Given the description of an element on the screen output the (x, y) to click on. 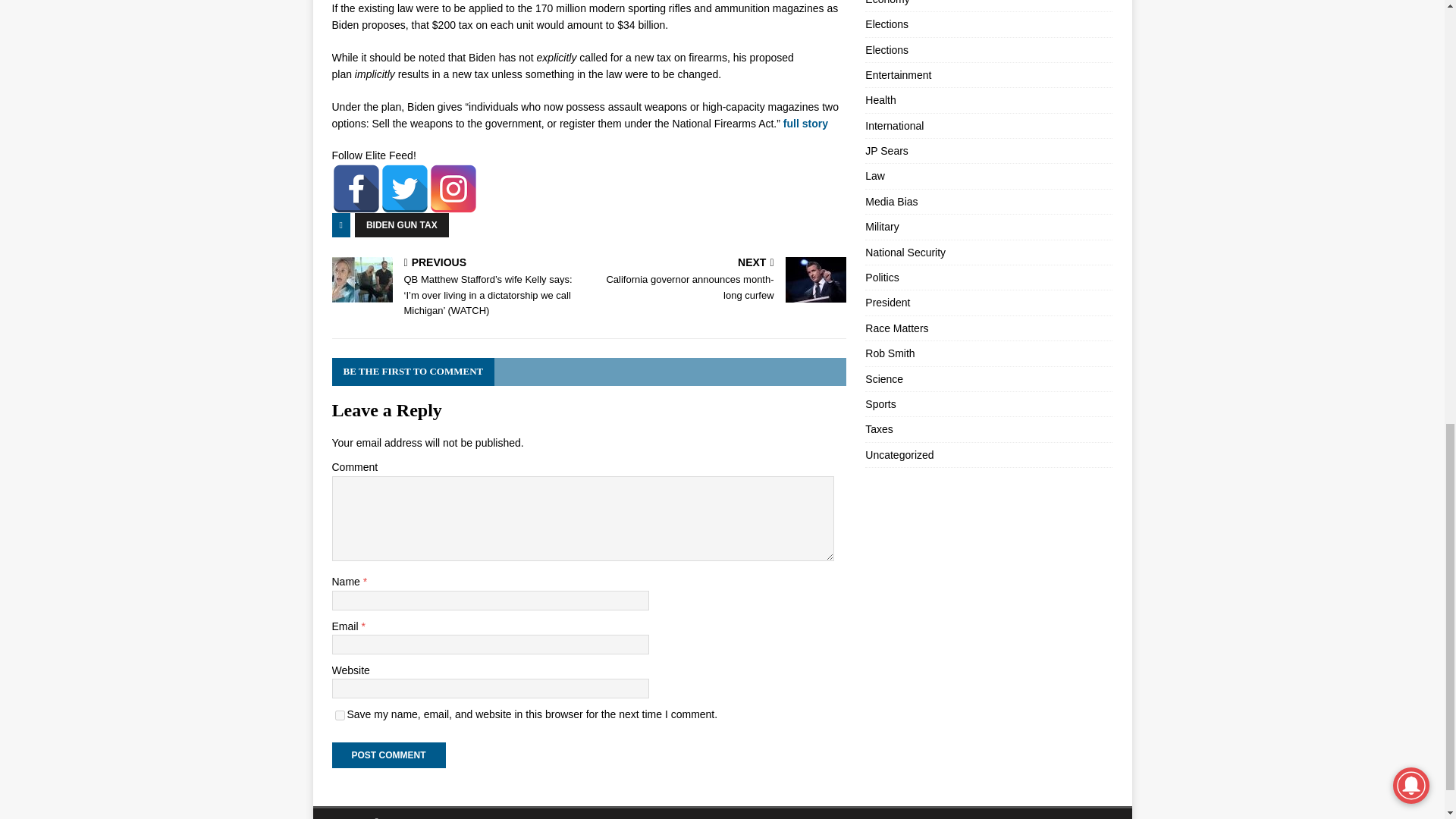
Facebook (355, 188)
yes (339, 715)
Post Comment (388, 755)
full story (805, 123)
Instagram (453, 188)
BIDEN GUN TAX (401, 224)
Twitter (720, 280)
Post Comment (404, 188)
